Given the description of an element on the screen output the (x, y) to click on. 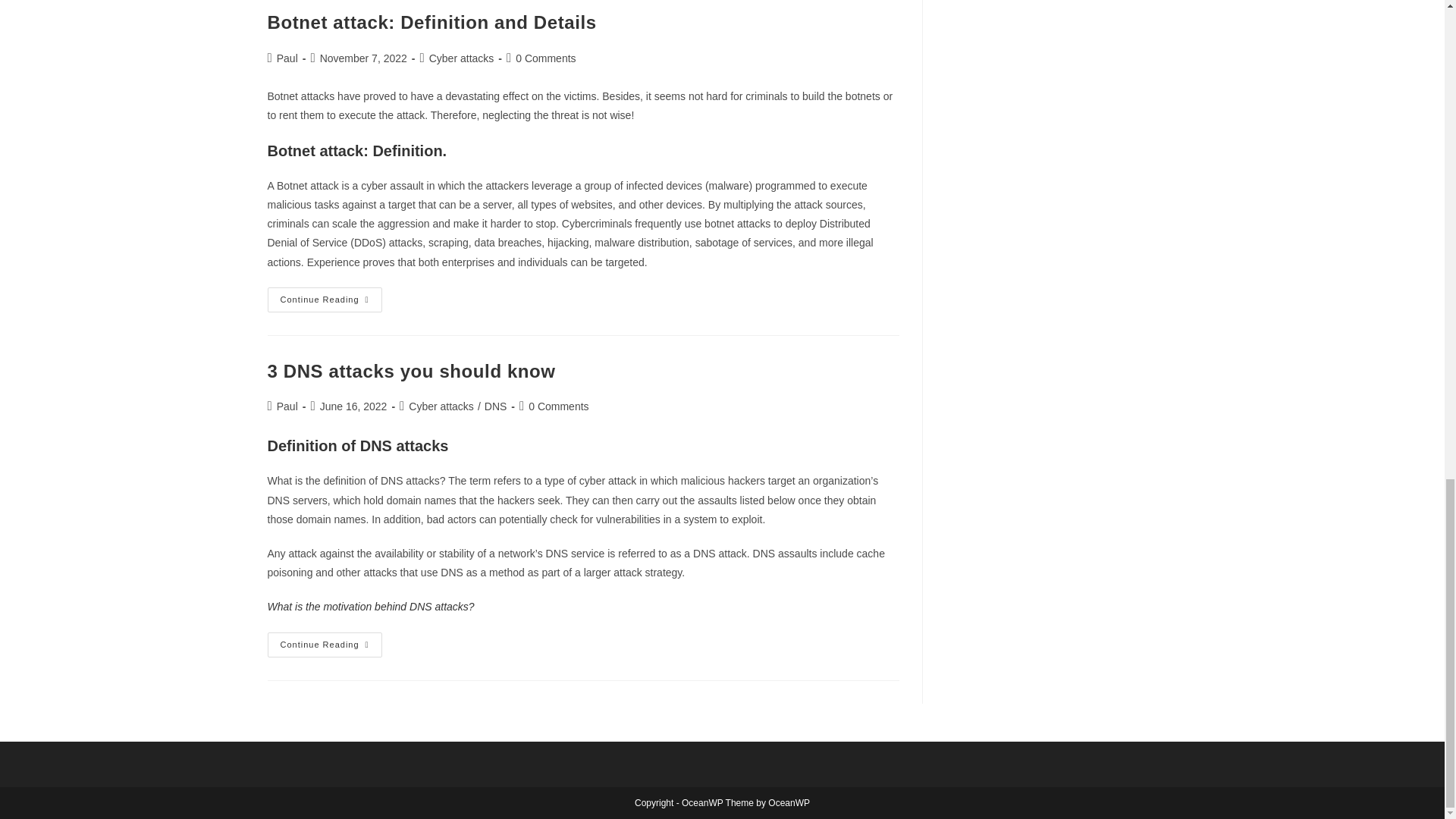
Cyber attacks (441, 406)
0 Comments (323, 644)
Posts by Paul (558, 406)
What is the motivation behind DNS attacks? (287, 58)
Cyber attacks (370, 606)
3 DNS attacks you should know (462, 58)
DNS (410, 371)
0 Comments (495, 406)
Paul (545, 58)
